Given the description of an element on the screen output the (x, y) to click on. 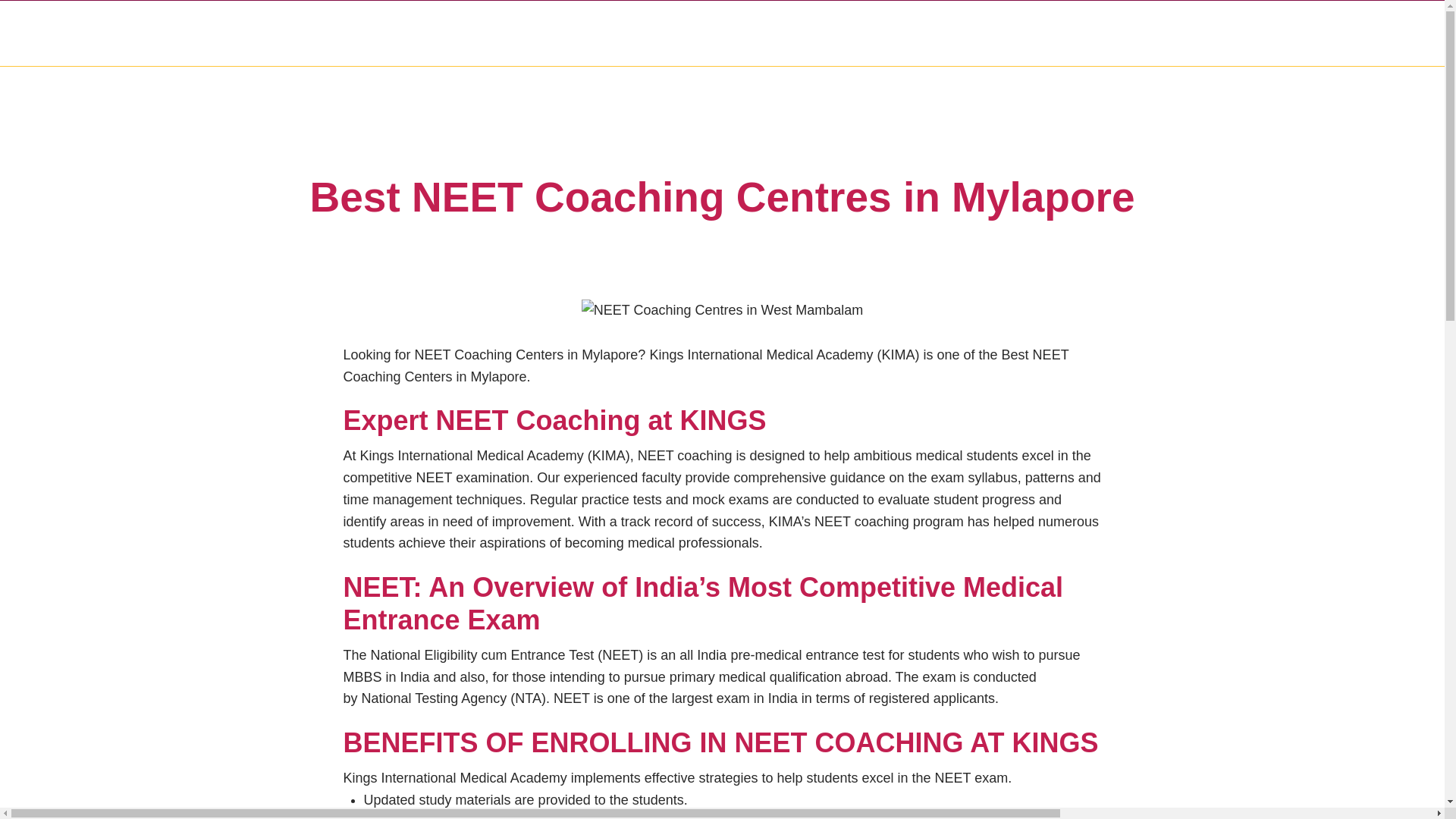
NEET Coaching Centres in West Mambalam (721, 310)
